Given the description of an element on the screen output the (x, y) to click on. 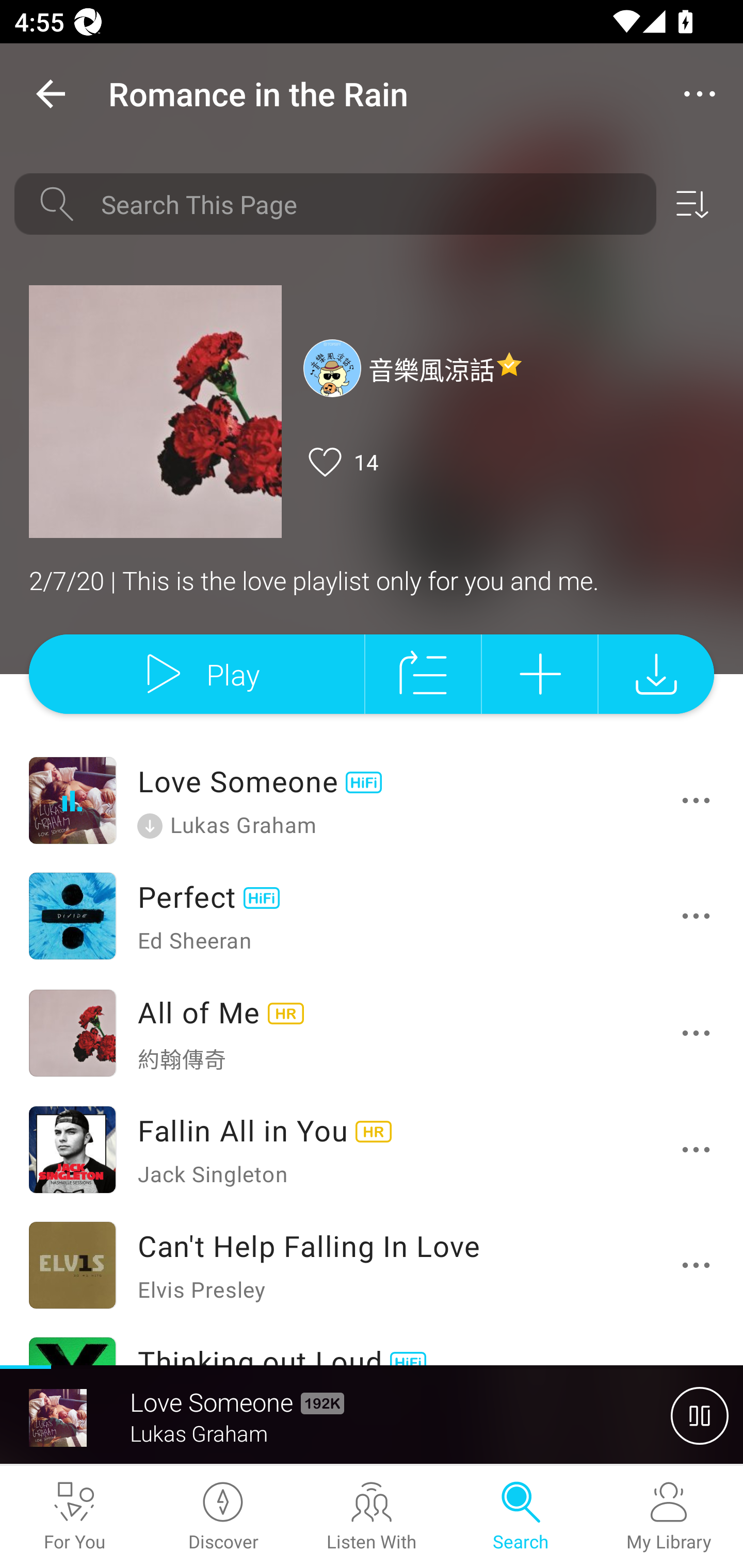
overflow (699, 93)
Search This Page (371, 204)
音樂風涼話 text_curator_name (413, 367)
14 button_collection (340, 462)
Play (196, 674)
add to queue (422, 674)
加入至歌單 (539, 674)
下載歌曲至手機 (656, 674)
Love Someone 已下載 Lukas Graham 更多操作選項 (371, 800)
更多操作選項 (699, 800)
Perfect Ed Sheeran 更多操作選項 (371, 915)
更多操作選項 (699, 915)
All of Me 約翰傳奇　 更多操作選項 (371, 1032)
更多操作選項 (699, 1033)
Fallin All in You Jack Singleton 更多操作選項 (371, 1149)
更多操作選項 (699, 1149)
Can't Help Falling In Love Elvis Presley 更多操作選項 (371, 1265)
更多操作選項 (699, 1265)
暫停播放 (699, 1415)
For You (74, 1517)
Discover (222, 1517)
Listen With (371, 1517)
Search (519, 1517)
My Library (668, 1517)
